Given the description of an element on the screen output the (x, y) to click on. 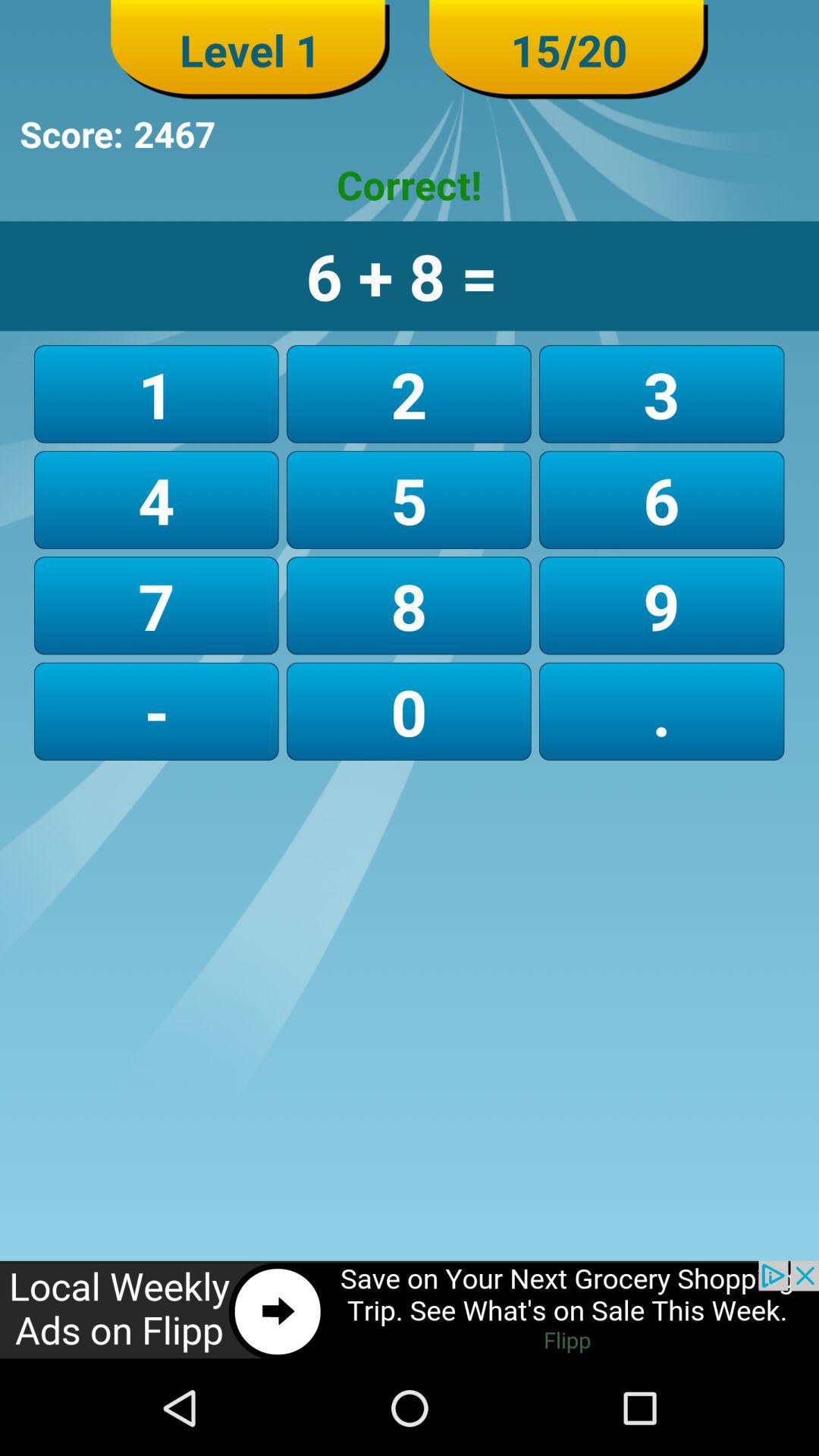
jump to 3 icon (661, 394)
